Given the description of an element on the screen output the (x, y) to click on. 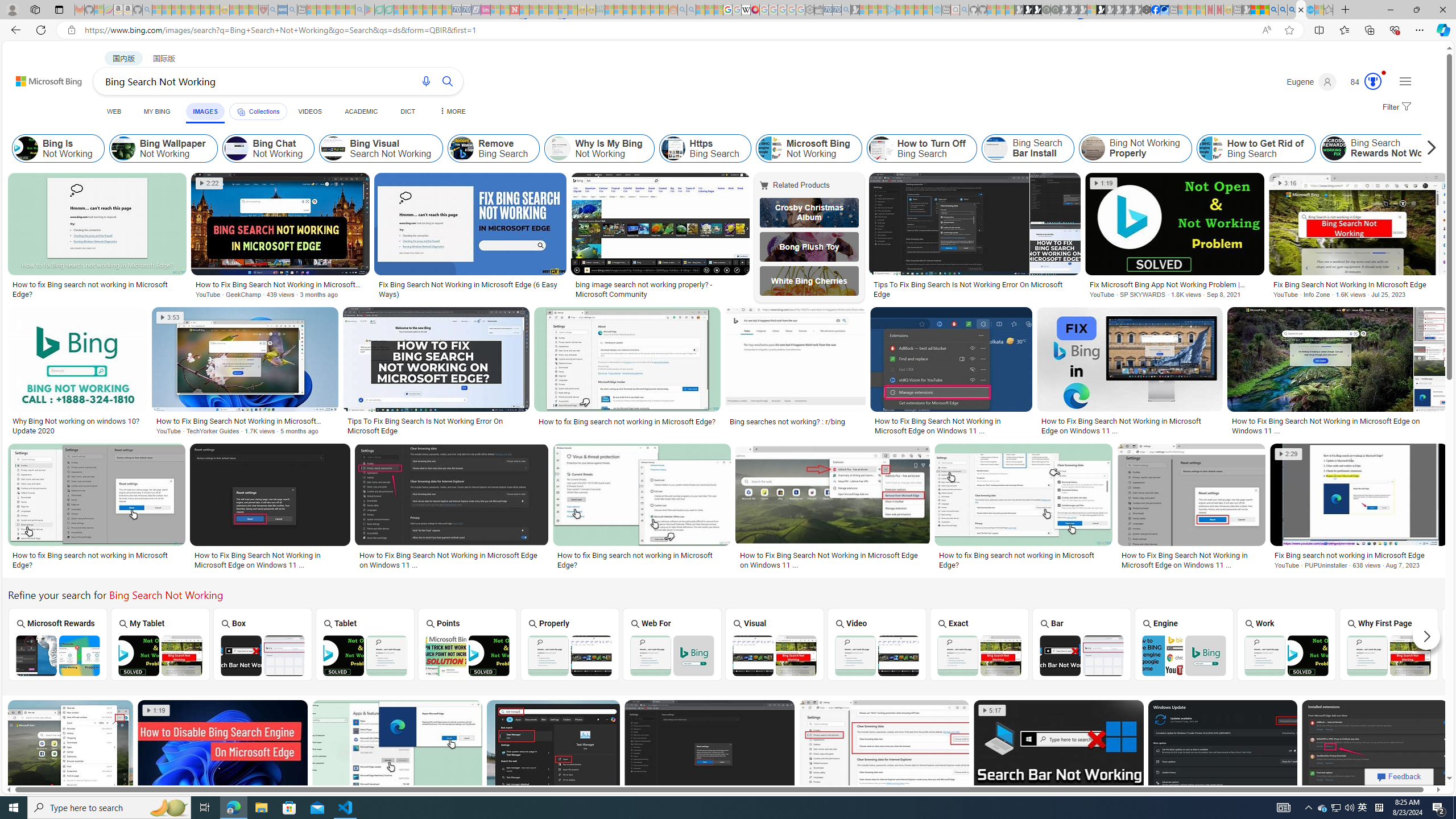
Https Bing Search (705, 148)
Image result for Bing Search Not Working (1374, 750)
Bing Search Engine Not Working (1184, 655)
Search button (447, 80)
Bing Search Bar Install (996, 148)
Fix Bing Search Not Working in Microsoft Edge (6 Easy Ways) (470, 289)
White Bing Cherries (809, 280)
